Given the description of an element on the screen output the (x, y) to click on. 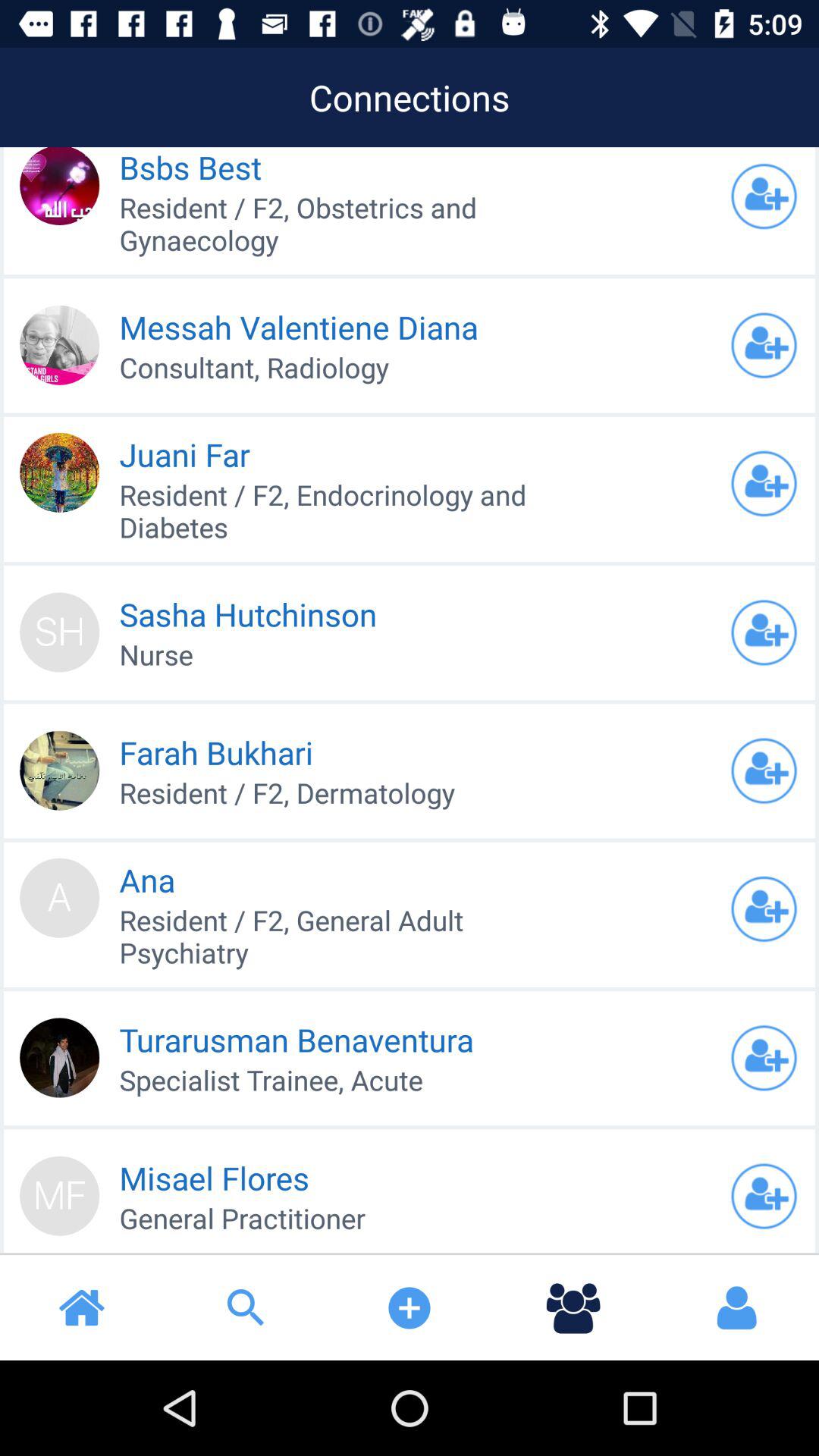
add connection (764, 770)
